Given the description of an element on the screen output the (x, y) to click on. 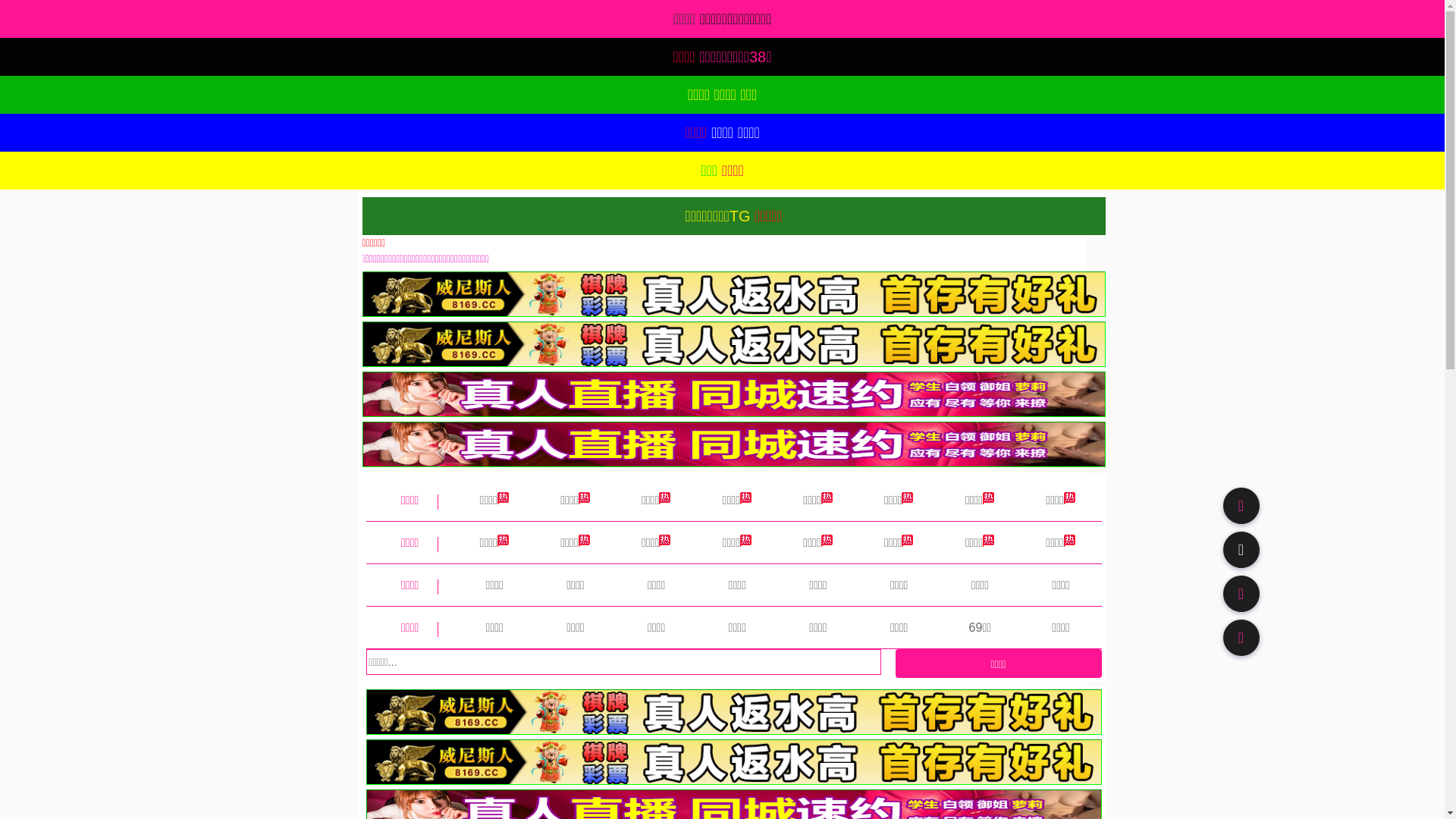
91TV Element type: hover (1240, 593)
